Given the description of an element on the screen output the (x, y) to click on. 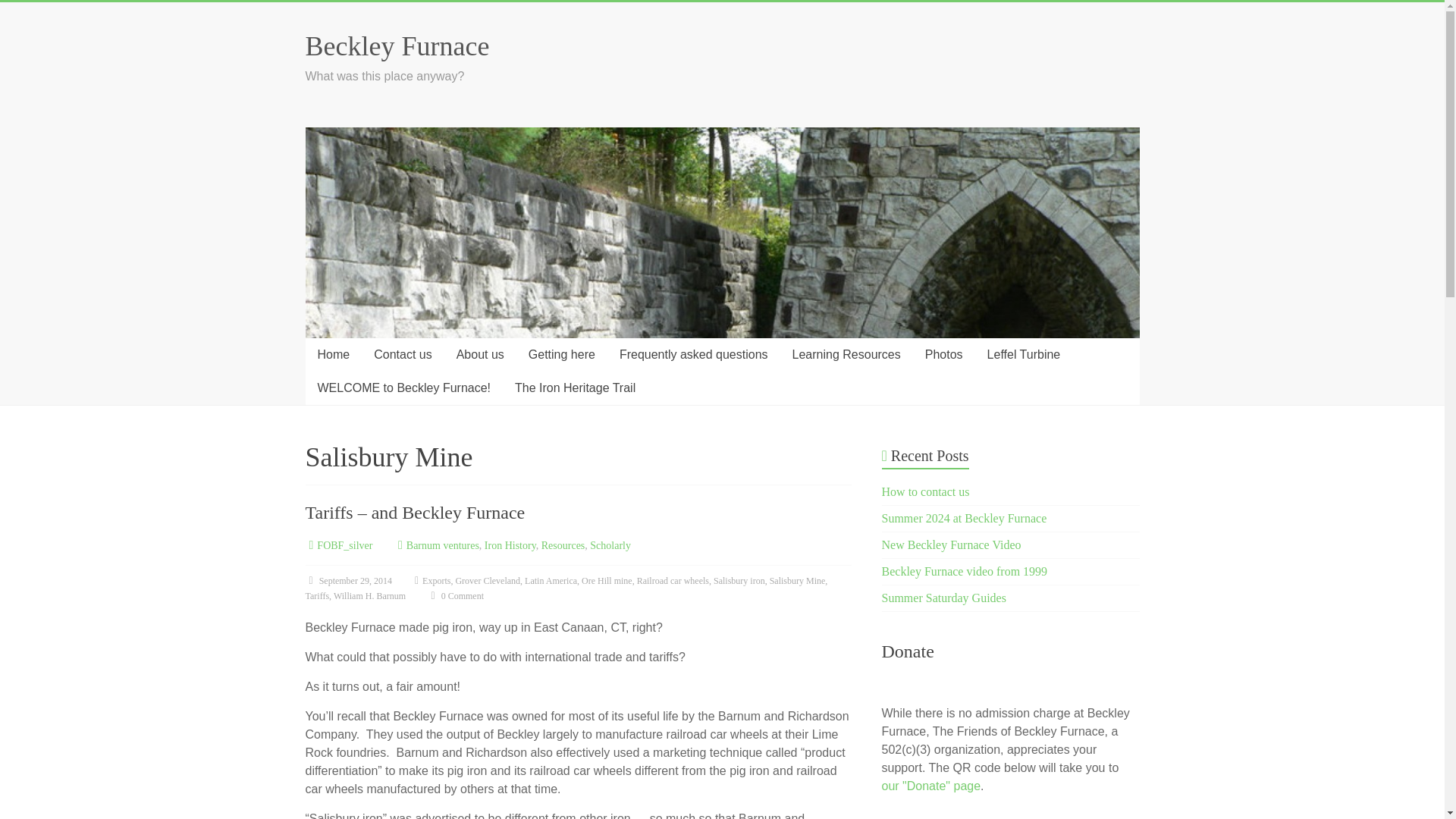
Contact us (402, 354)
Ore Hill mine (605, 580)
Frequently asked questions (693, 354)
September 29, 2014 (347, 580)
WELCOME to Beckley Furnace! (403, 387)
4:48 pm (347, 580)
Barnum ventures (442, 545)
Salisbury iron (739, 580)
Latin America (550, 580)
About us (480, 354)
Exports (435, 580)
The Iron Heritage Trail (574, 387)
Beckley Furnace (396, 46)
Beckley Furnace (396, 46)
Resources (563, 545)
